Given the description of an element on the screen output the (x, y) to click on. 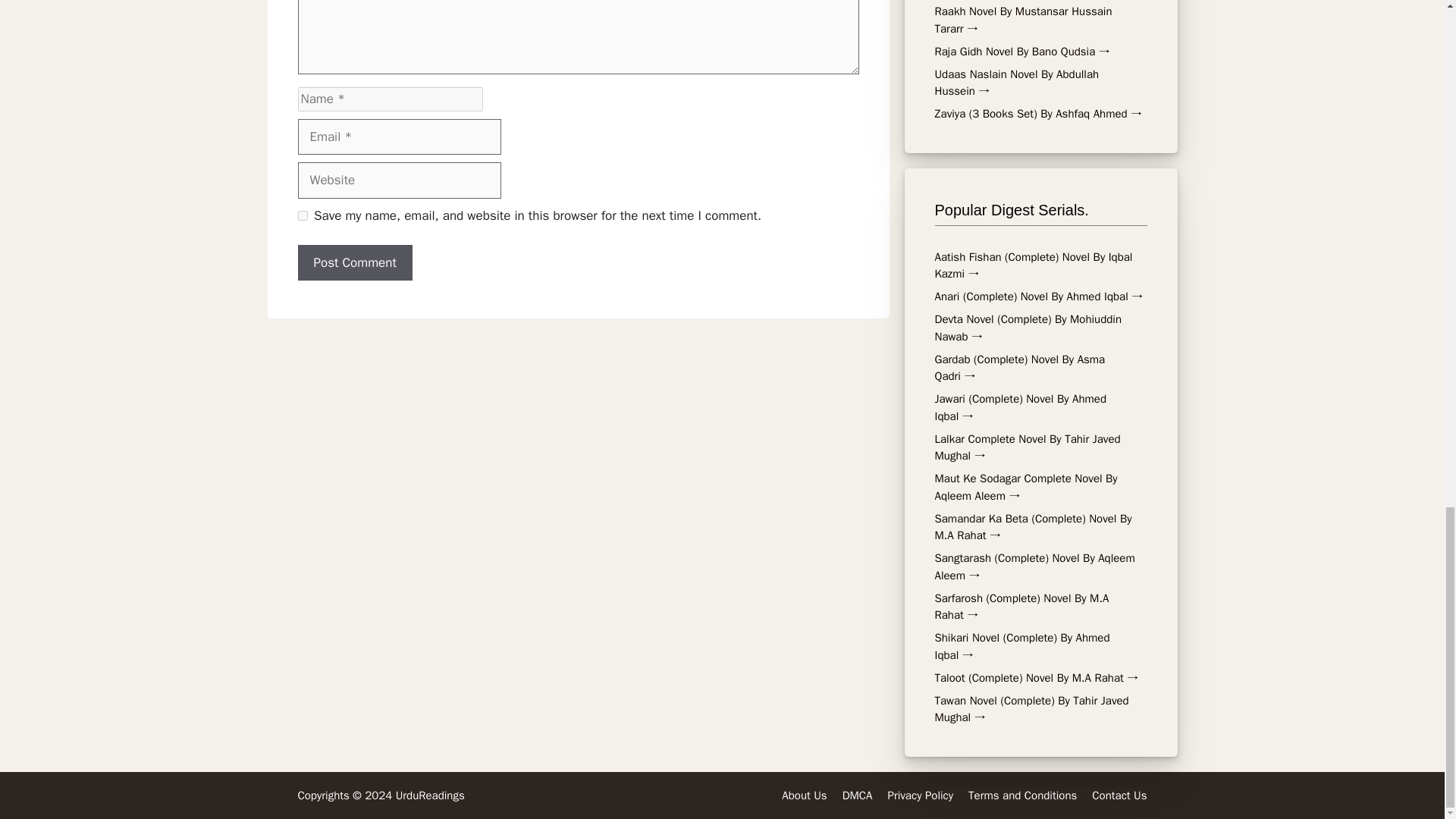
Scroll back to top (1417, 137)
yes (302, 215)
Post Comment (354, 262)
